Given the description of an element on the screen output the (x, y) to click on. 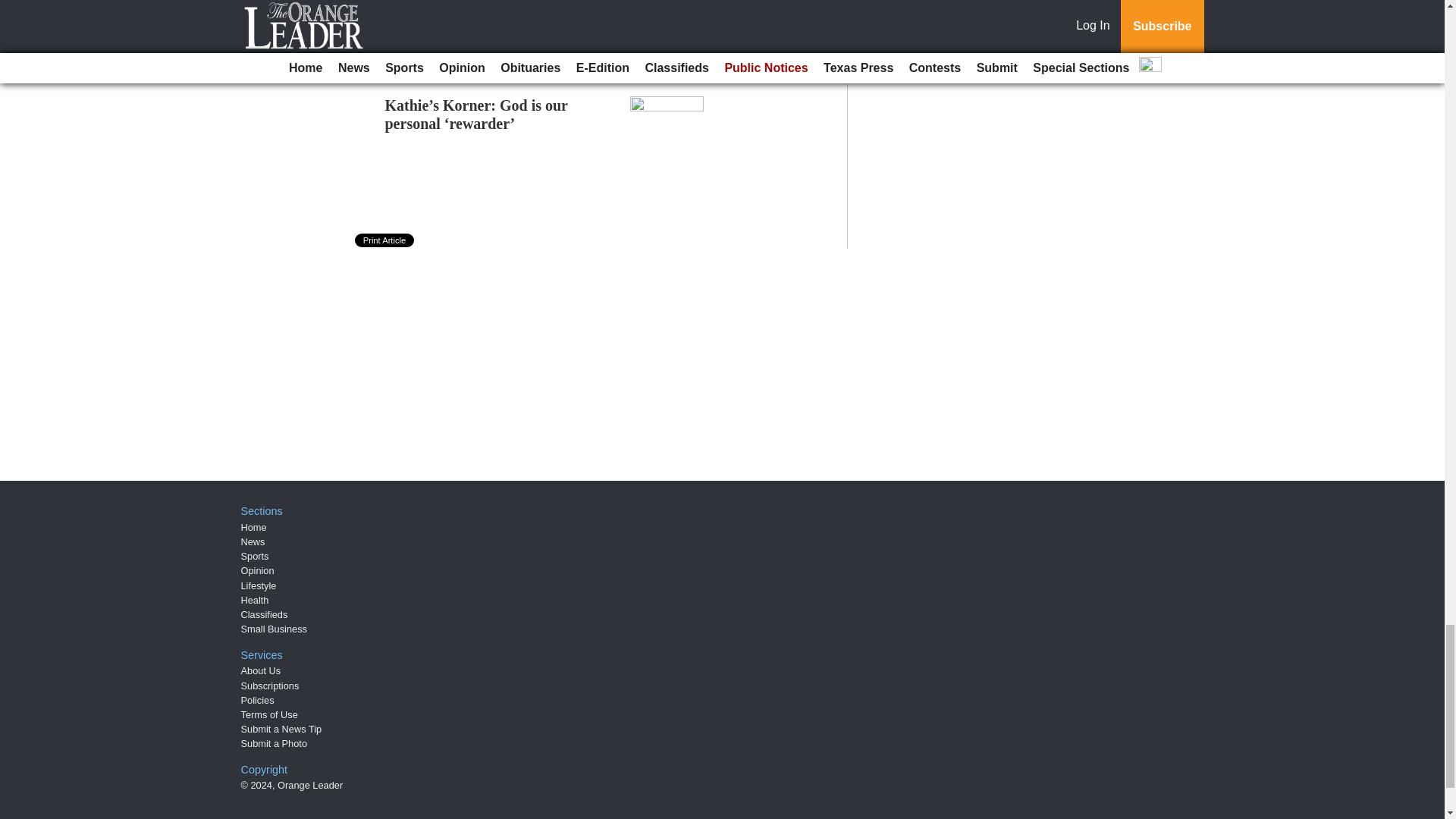
Print Article (384, 240)
